Given the description of an element on the screen output the (x, y) to click on. 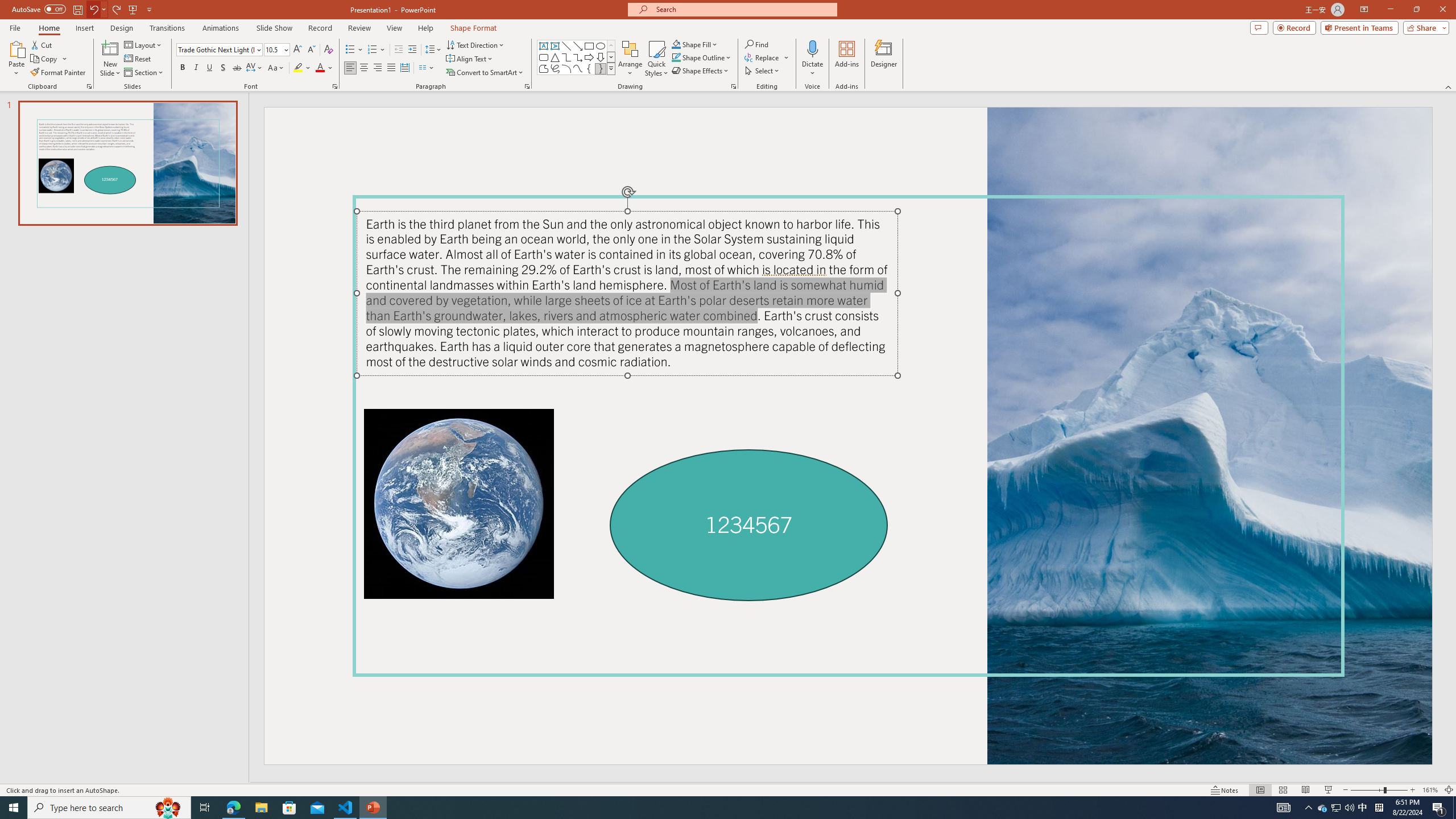
Text Highlight Color Yellow (297, 67)
Arrange (630, 58)
Zoom 161% (1430, 790)
Shadow (223, 67)
Bold (182, 67)
Quick Styles (656, 58)
